Given the description of an element on the screen output the (x, y) to click on. 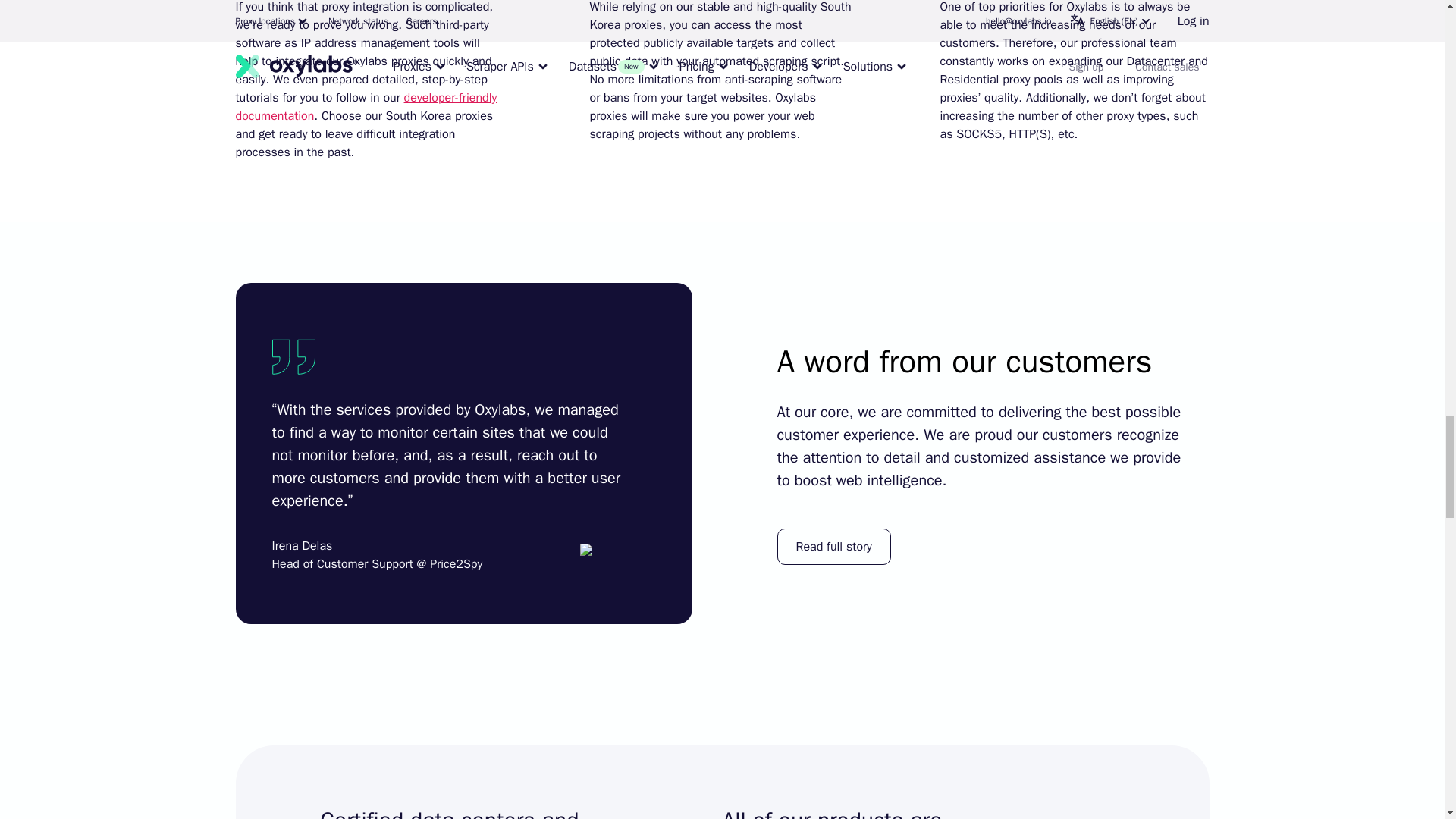
developer-friendly documentation (365, 106)
Read full story (832, 546)
